Given the description of an element on the screen output the (x, y) to click on. 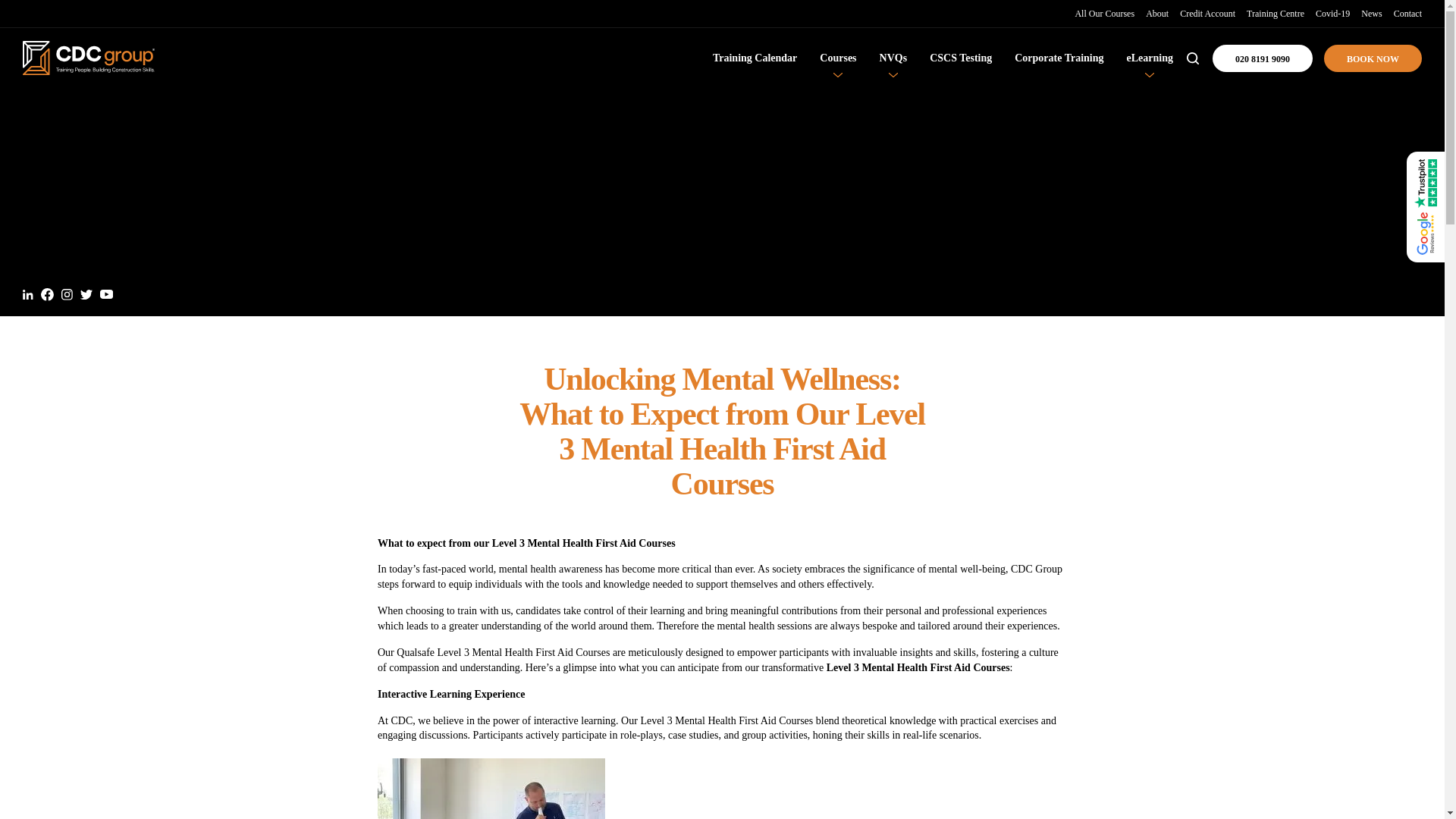
Credit Account (1206, 13)
Training Calendar (754, 57)
All Our Courses (1104, 13)
Training Centre (1275, 13)
Covid-19 (1332, 13)
Contact (1407, 13)
News (1371, 13)
Courses (837, 57)
About (1157, 13)
